Given the description of an element on the screen output the (x, y) to click on. 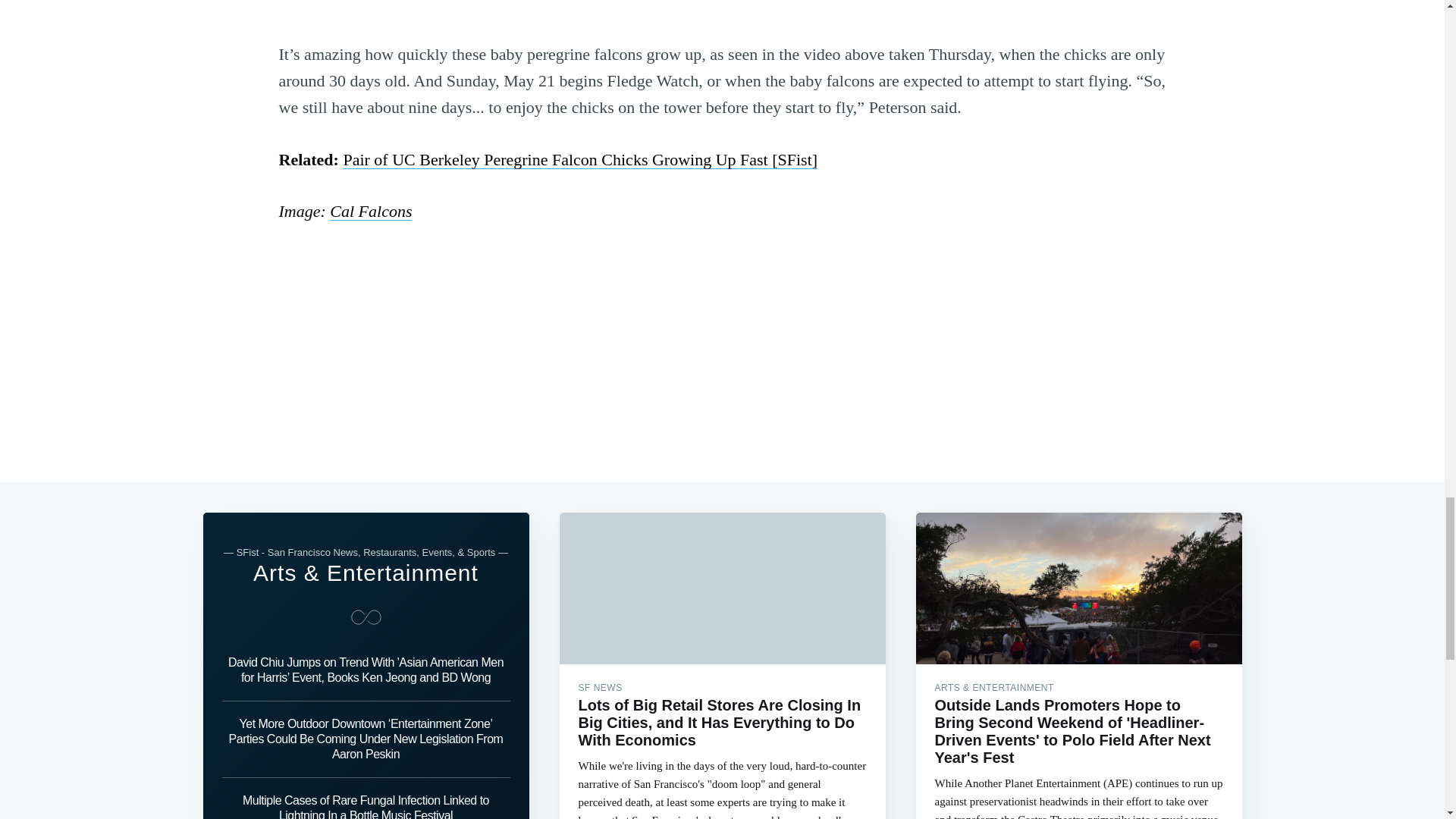
Cal Falcons (371, 210)
